Given the description of an element on the screen output the (x, y) to click on. 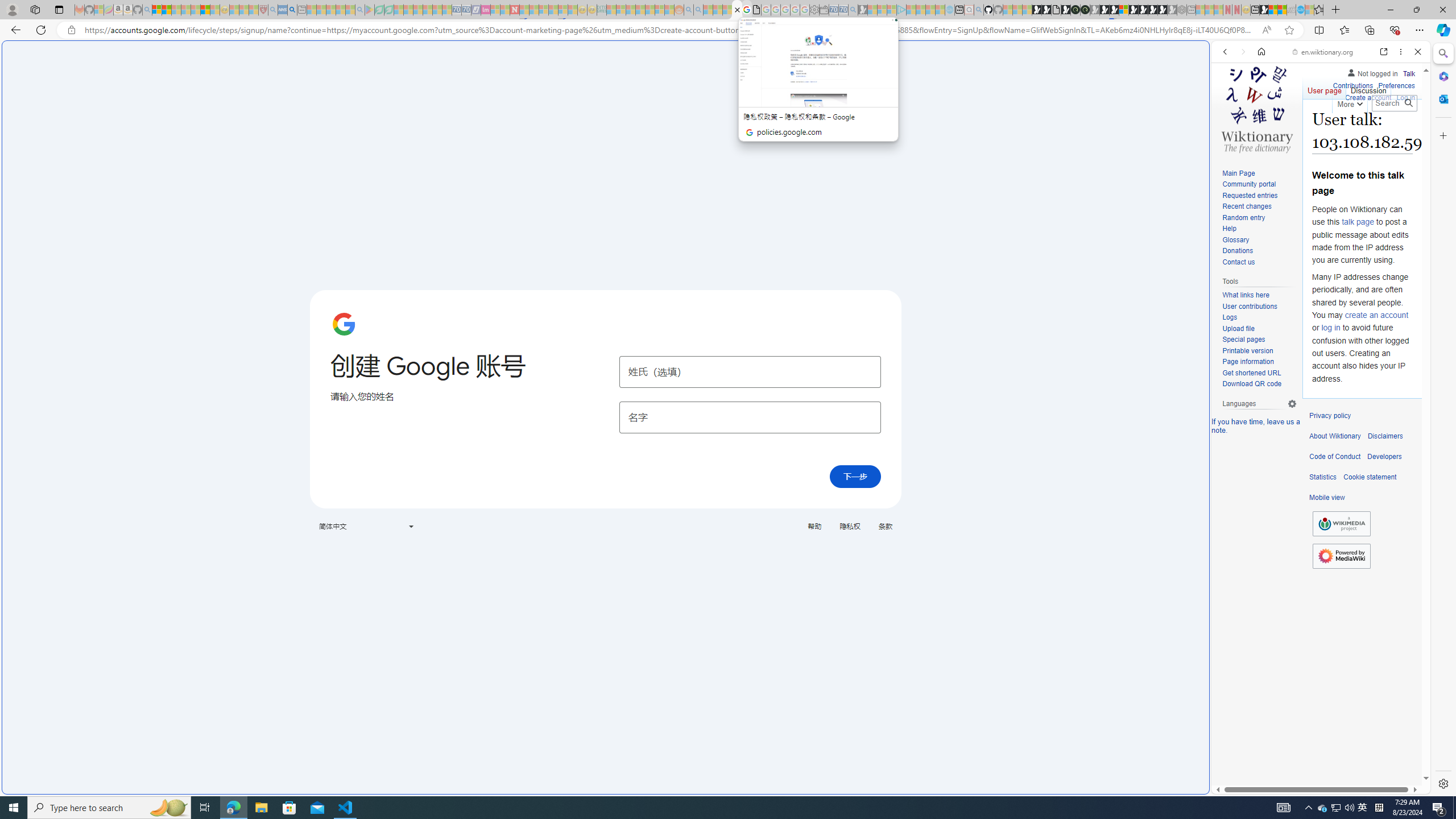
Powered by MediaWiki (1341, 555)
Bluey: Let's Play! - Apps on Google Play - Sleeping (369, 9)
Get shortened URL (1259, 373)
